Given the description of an element on the screen output the (x, y) to click on. 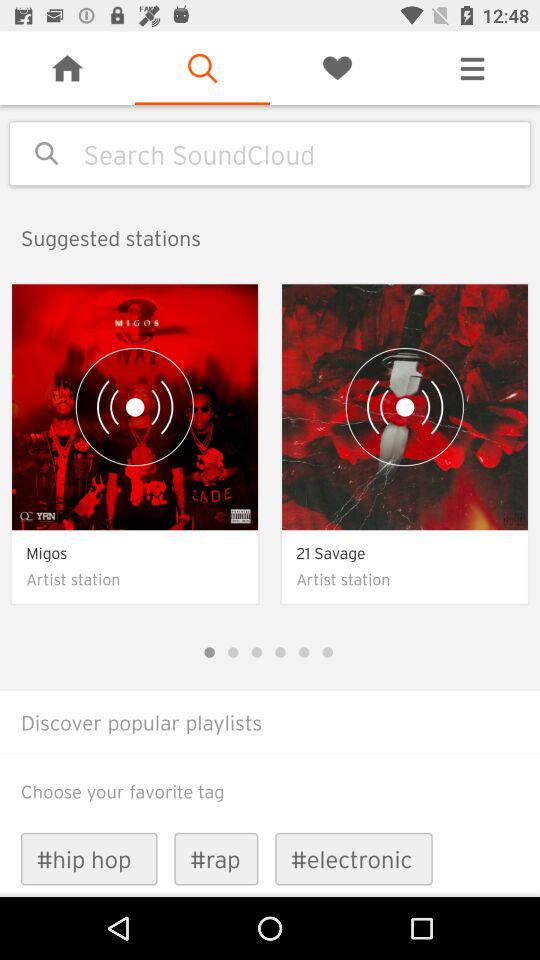
choose item next to the #electronic icon (216, 858)
